Given the description of an element on the screen output the (x, y) to click on. 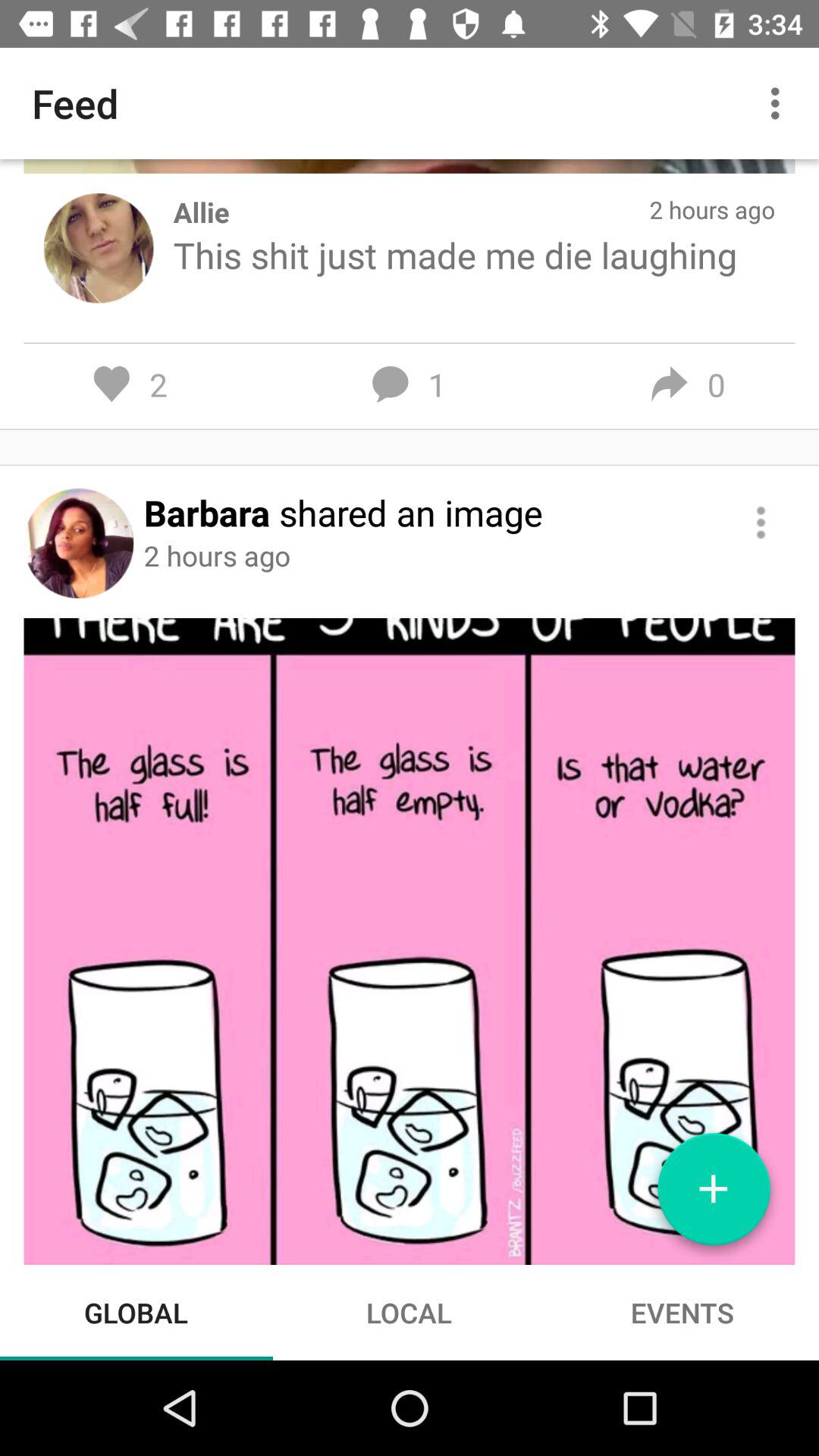
turn on icon above events (713, 1194)
